Given the description of an element on the screen output the (x, y) to click on. 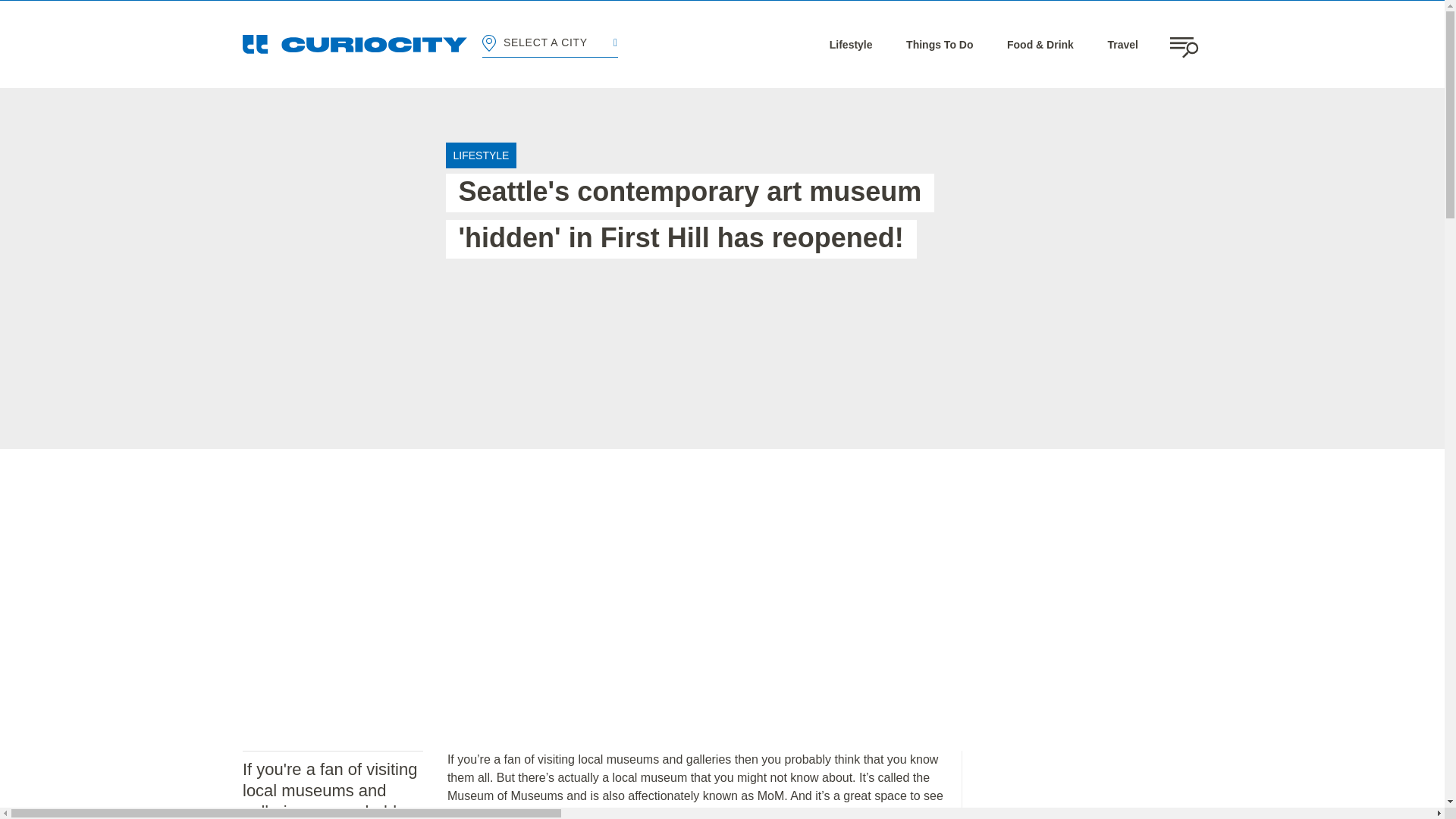
Travel (1121, 44)
curiocity-primary-logo-blue  (355, 44)
SELECT A CITY (549, 44)
Lifestyle (850, 44)
goes to Home (355, 43)
Things To Do (938, 44)
